Given the description of an element on the screen output the (x, y) to click on. 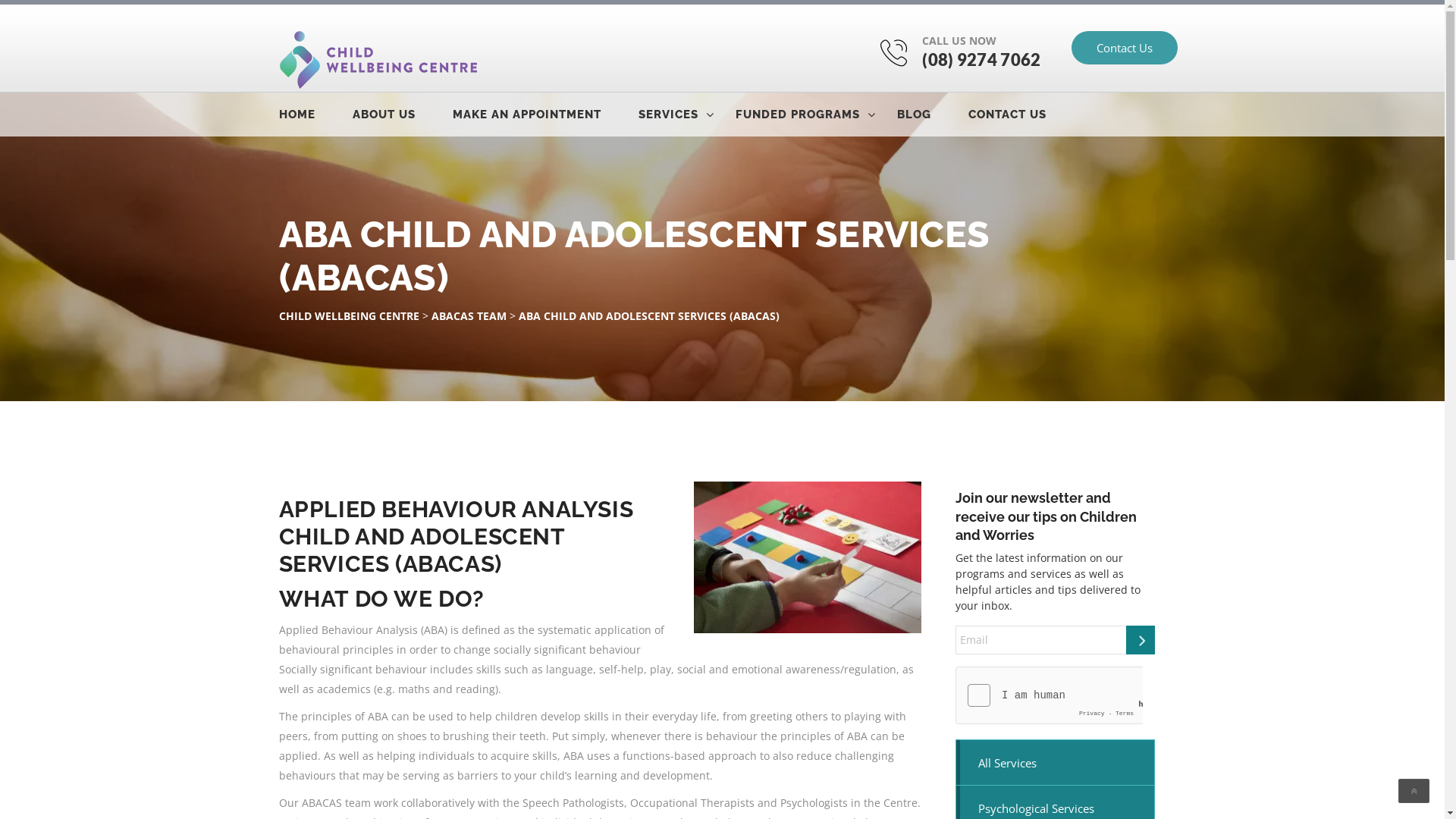
Widget containing checkbox for hCaptcha security challenge Element type: hover (1048, 694)
(08) 9274 7062 Element type: text (981, 59)
CONTACT US Element type: text (1023, 114)
ABOUT US Element type: text (399, 114)
All Services Element type: text (1055, 762)
MAKE AN APPOINTMENT Element type: text (542, 114)
Contact Us Element type: text (1123, 47)
SERVICES Element type: text (685, 114)
ABACAS TEAM Element type: text (467, 315)
BLOG Element type: text (930, 114)
CHILD WELLBEING CENTRE Element type: text (349, 315)
HOME Element type: text (314, 114)
FUNDED PROGRAMS Element type: text (814, 114)
